Given the description of an element on the screen output the (x, y) to click on. 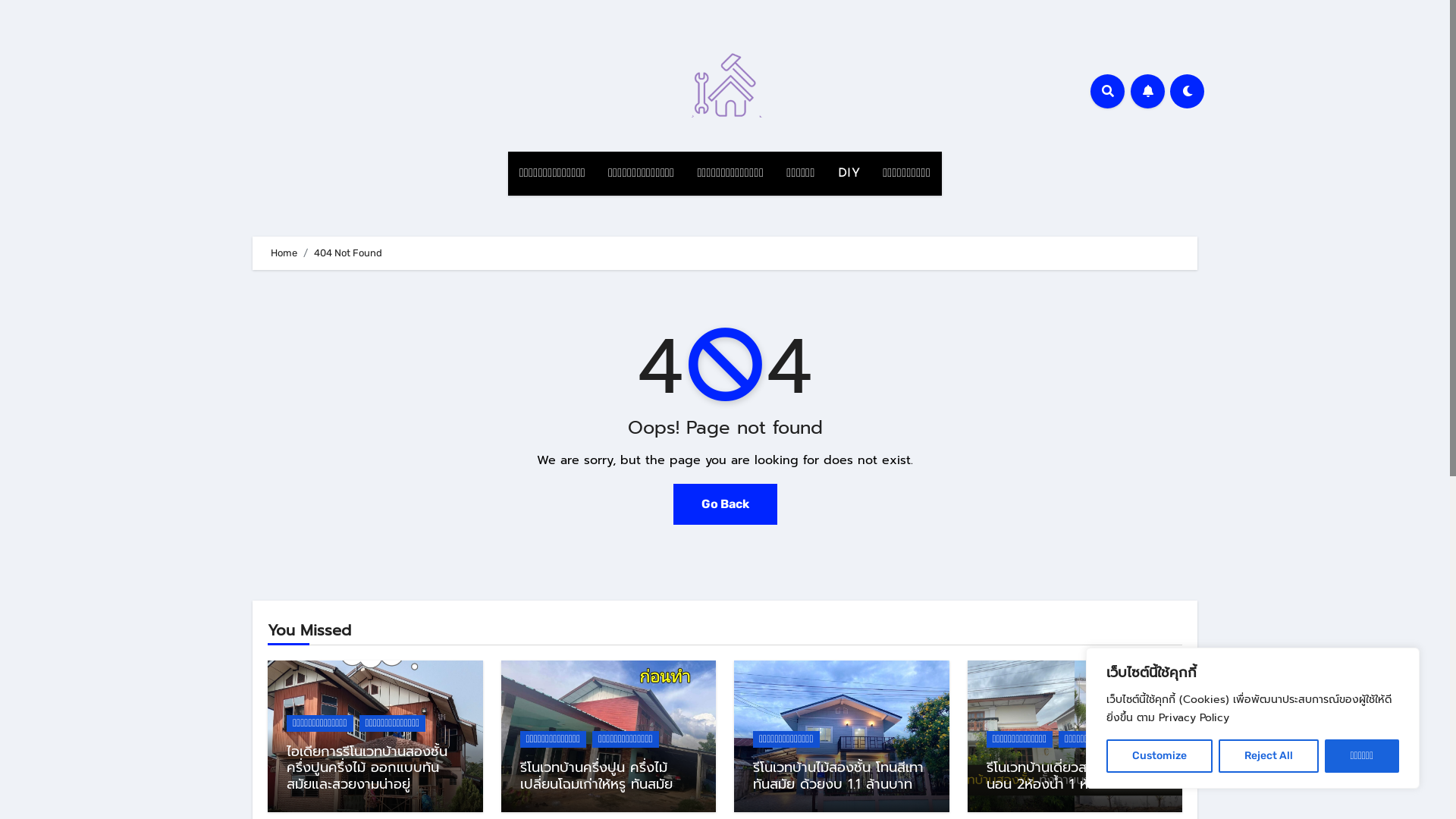
Go Back Element type: text (725, 503)
DIY Element type: text (849, 173)
Reject All Element type: text (1268, 755)
Home Element type: text (283, 252)
Customize Element type: text (1159, 755)
